Given the description of an element on the screen output the (x, y) to click on. 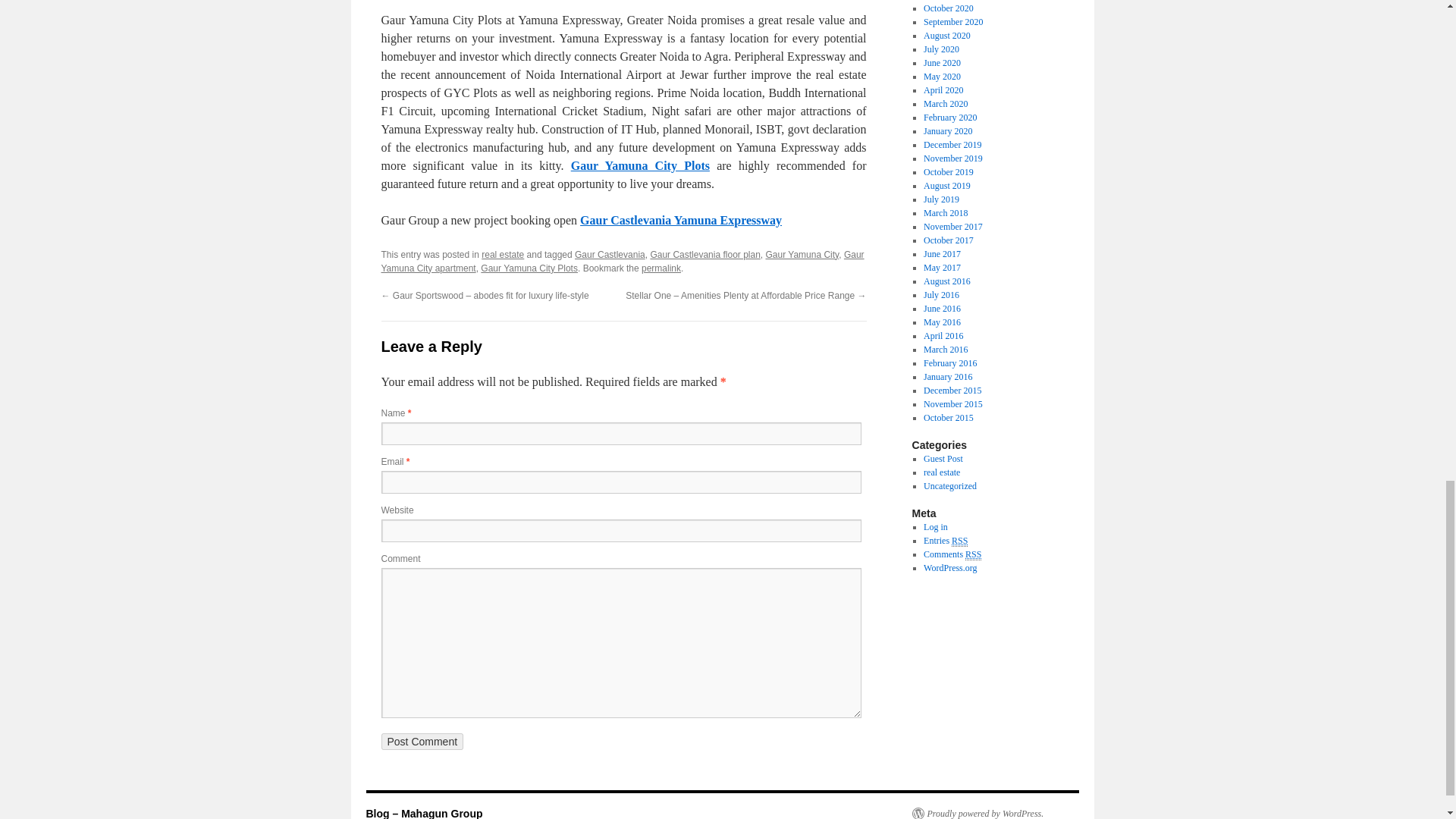
Post Comment (421, 741)
Really Simple Syndication (960, 541)
Gaur Yamuna City Plots (529, 267)
Gaur Yamuna City apartment (621, 261)
permalink (661, 267)
Post Comment (421, 741)
real estate (502, 254)
Gaur Yamuna City Plots (640, 164)
Really Simple Syndication (973, 554)
